Given the description of an element on the screen output the (x, y) to click on. 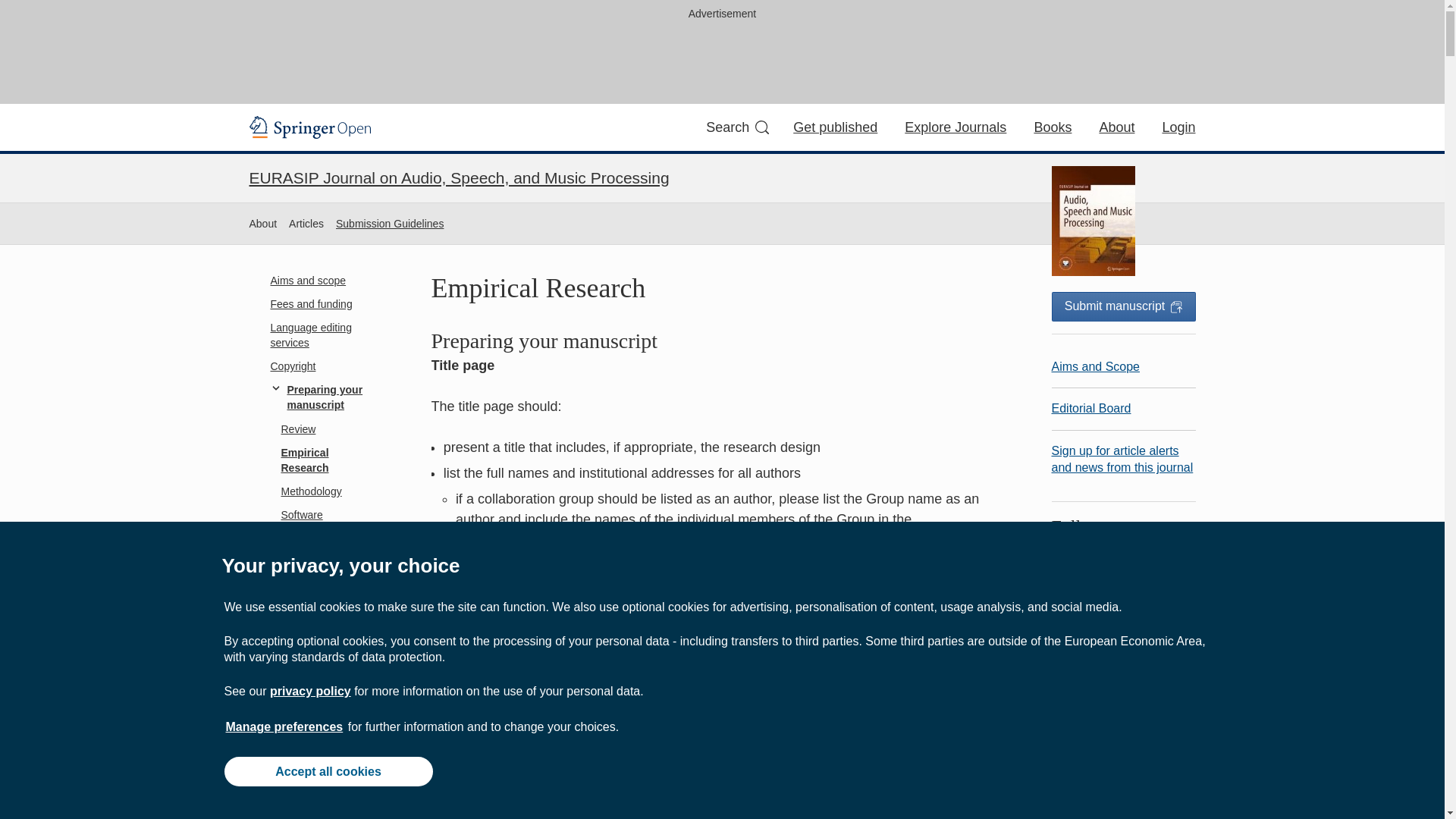
Review (320, 429)
Articles (305, 223)
About (1116, 127)
Software (320, 515)
Language editing services (320, 335)
Fees and funding (320, 304)
Methodology (320, 491)
Preparing your manuscript (320, 398)
privacy policy (309, 690)
Empirical Research (320, 460)
About (262, 223)
Get published (835, 127)
Promoting your publication (320, 671)
Peer-review policy (320, 639)
Accept all cookies (328, 771)
